Given the description of an element on the screen output the (x, y) to click on. 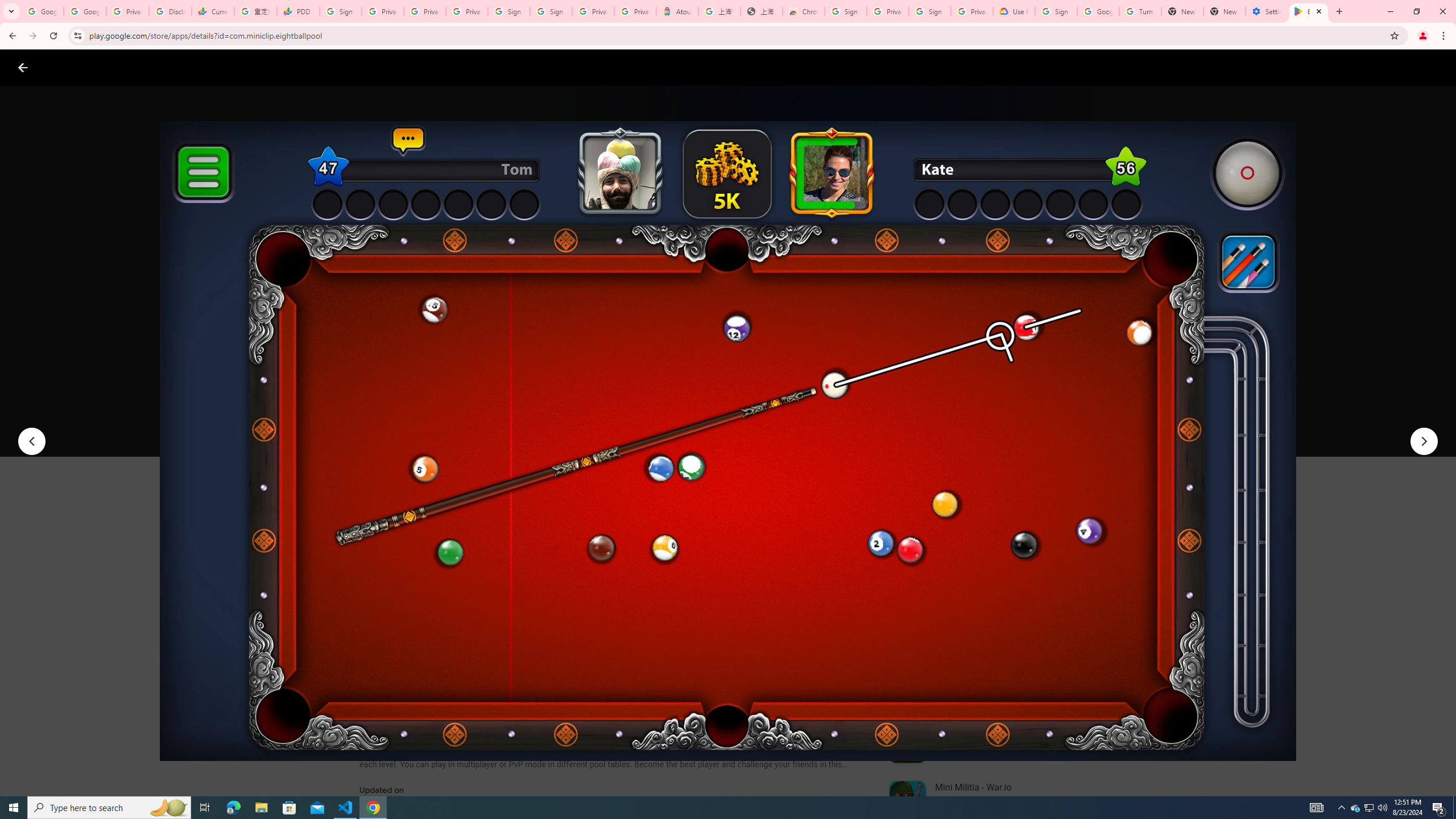
New Tab (1224, 11)
8 Ball Pool - Apps on Google Play (1308, 11)
Google Play logo (64, 67)
See more information on About this game (472, 681)
Previous (31, 441)
Screenshot image (817, 563)
Sign in - Google Accounts (509, 11)
Kids (219, 67)
